Given the description of an element on the screen output the (x, y) to click on. 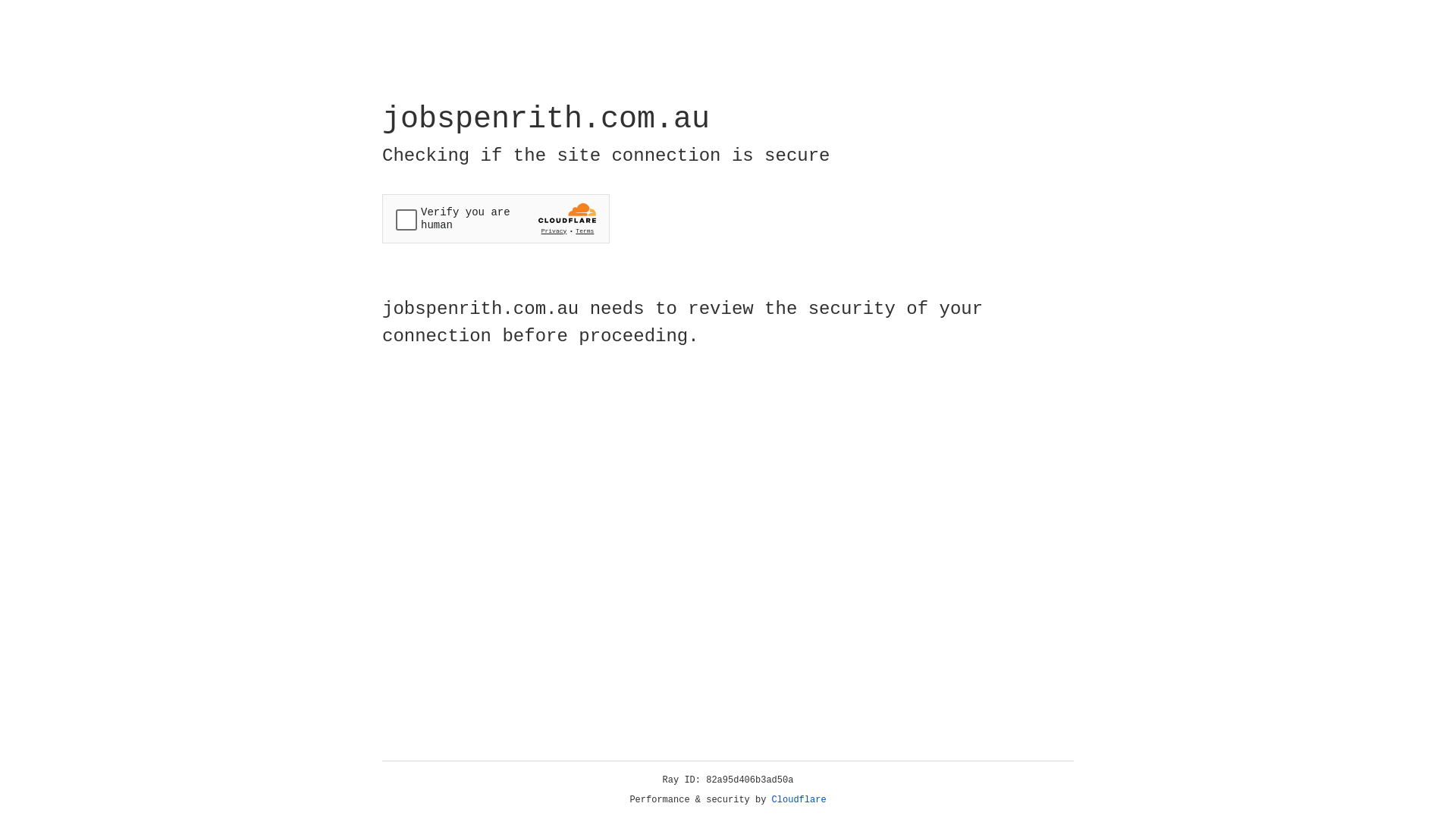
Cloudflare Element type: text (798, 799)
Widget containing a Cloudflare security challenge Element type: hover (495, 218)
